Given the description of an element on the screen output the (x, y) to click on. 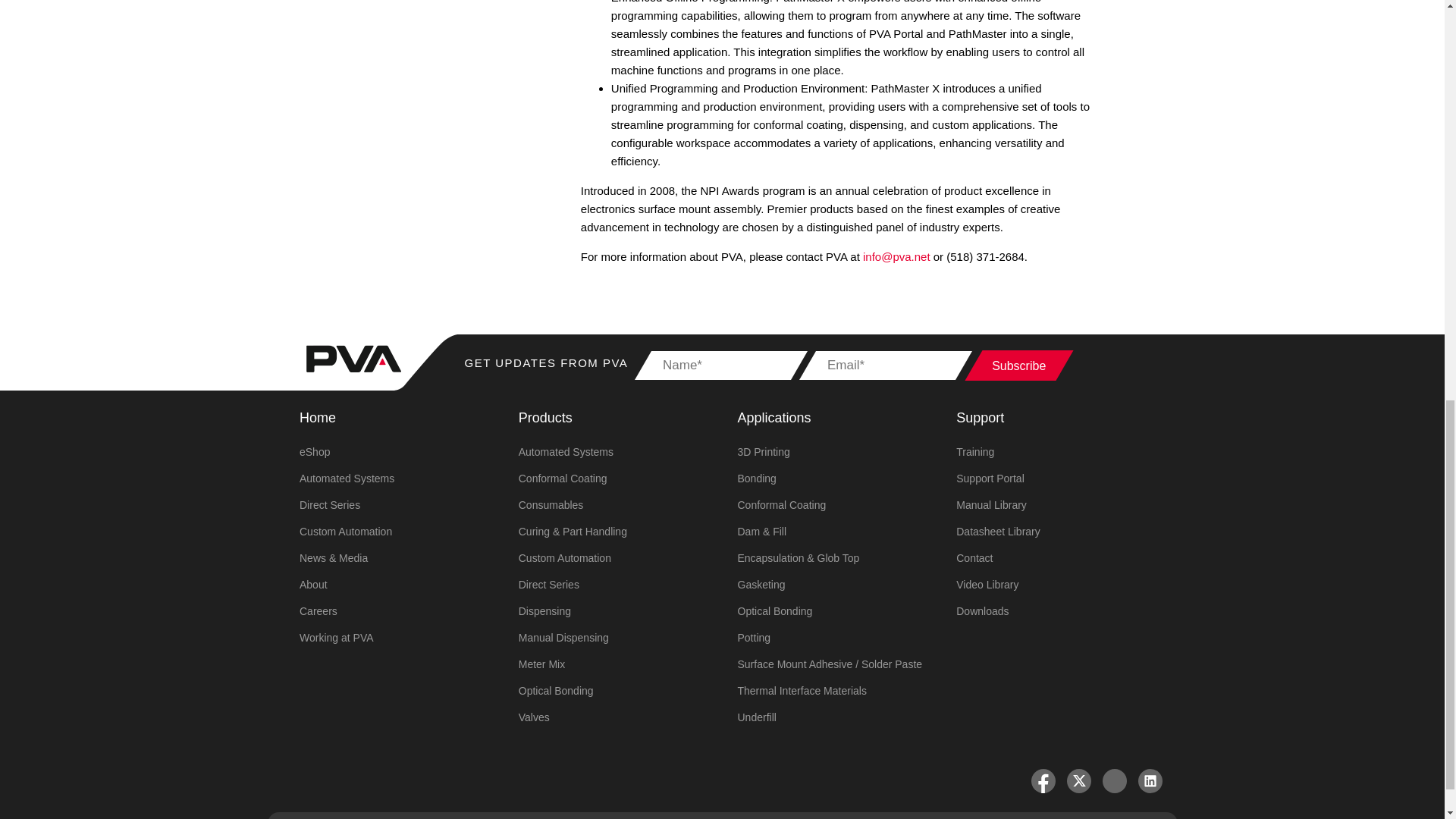
Connect with us on LinkedIn (1149, 781)
Follow us on Twitter (1077, 781)
Follow our YouTube Channel (1114, 781)
Add us on Facebook (1042, 781)
